Given the description of an element on the screen output the (x, y) to click on. 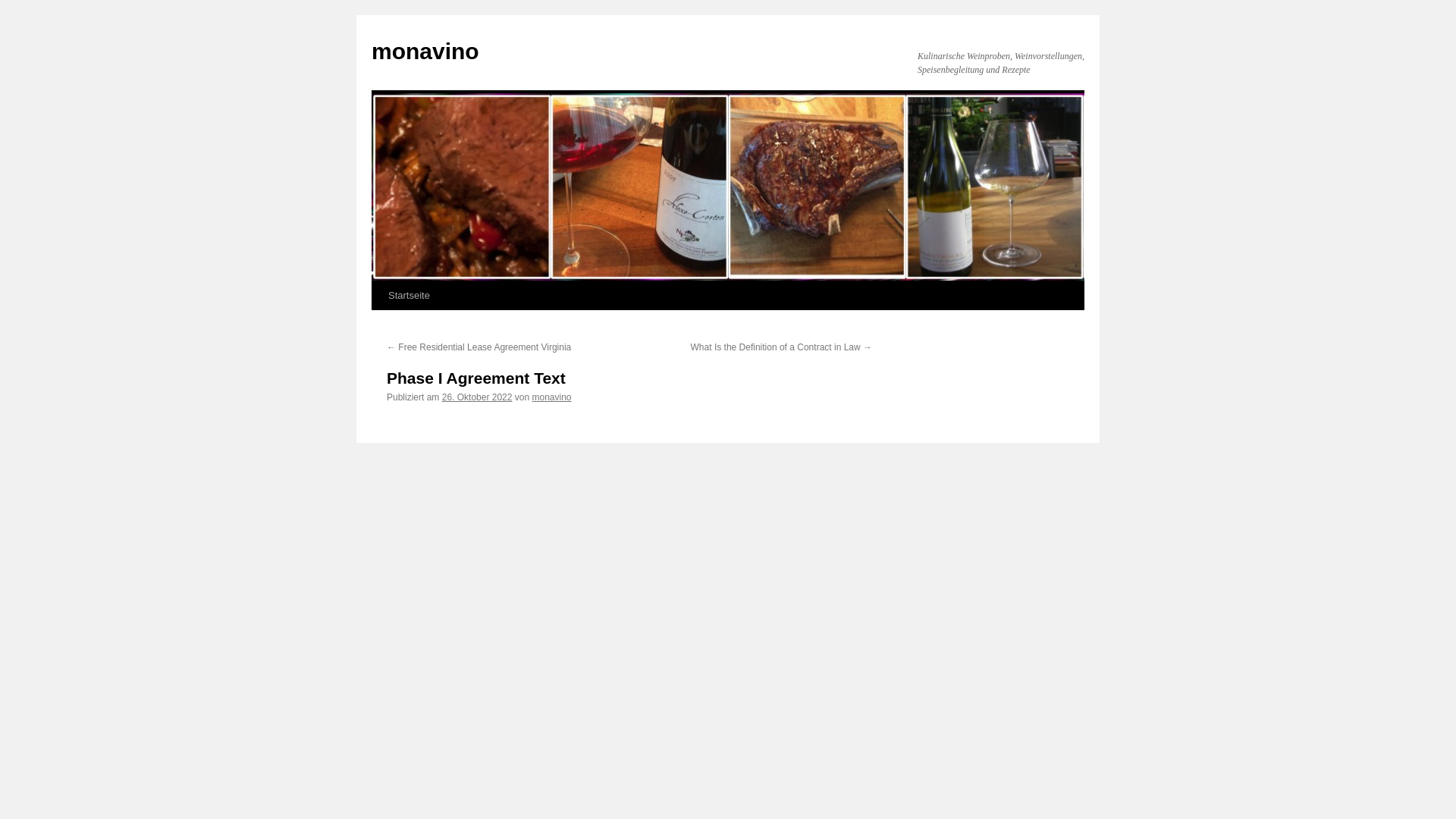
15:06 (477, 397)
Startseite (409, 295)
monavino (425, 50)
monavino (550, 397)
26. Oktober 2022 (477, 397)
monavino (425, 50)
